Given the description of an element on the screen output the (x, y) to click on. 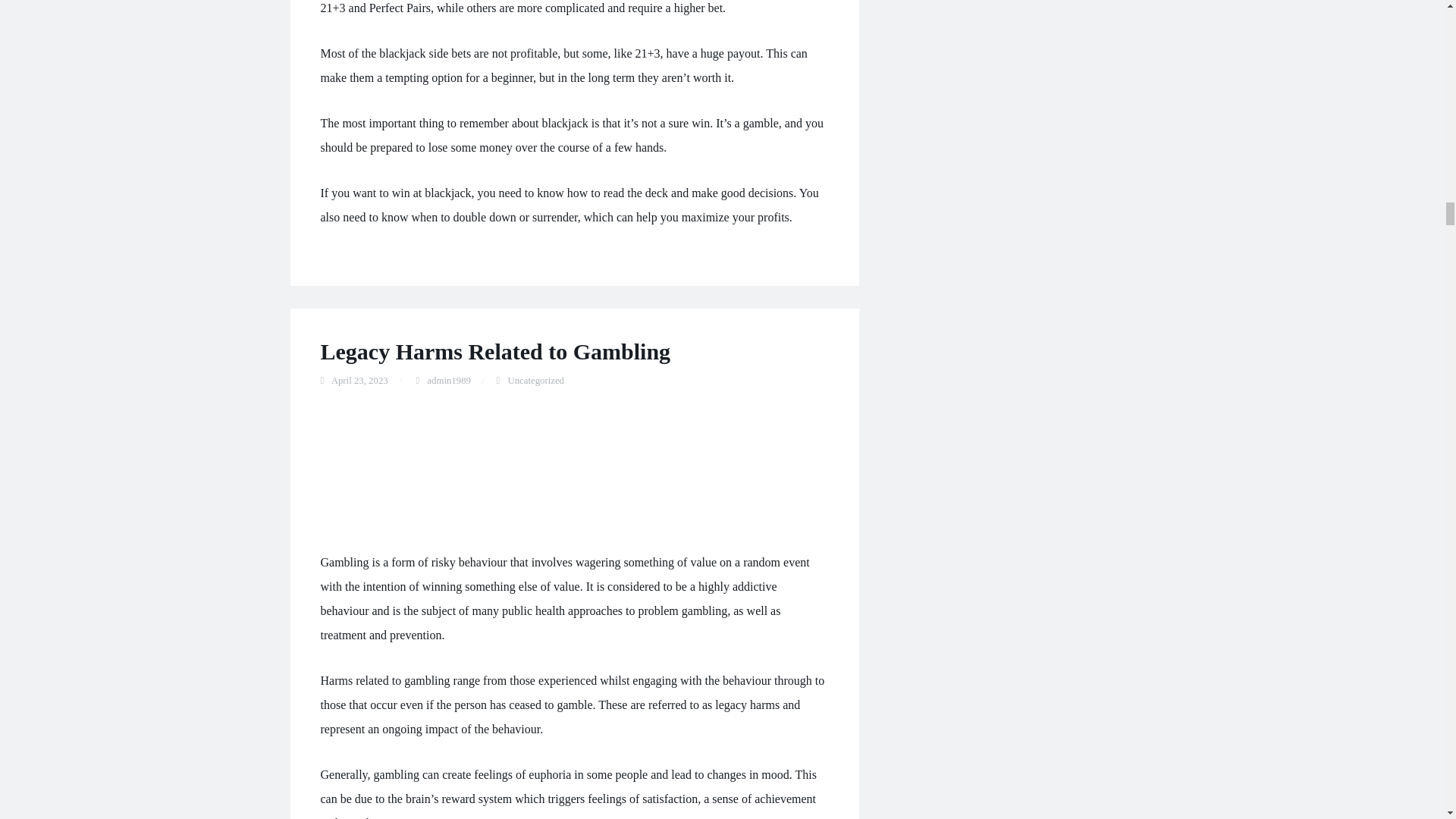
Legacy Harms Related to Gambling (494, 351)
April 23, 2023 (359, 380)
admin1989 (448, 380)
Uncategorized (535, 380)
